Given the description of an element on the screen output the (x, y) to click on. 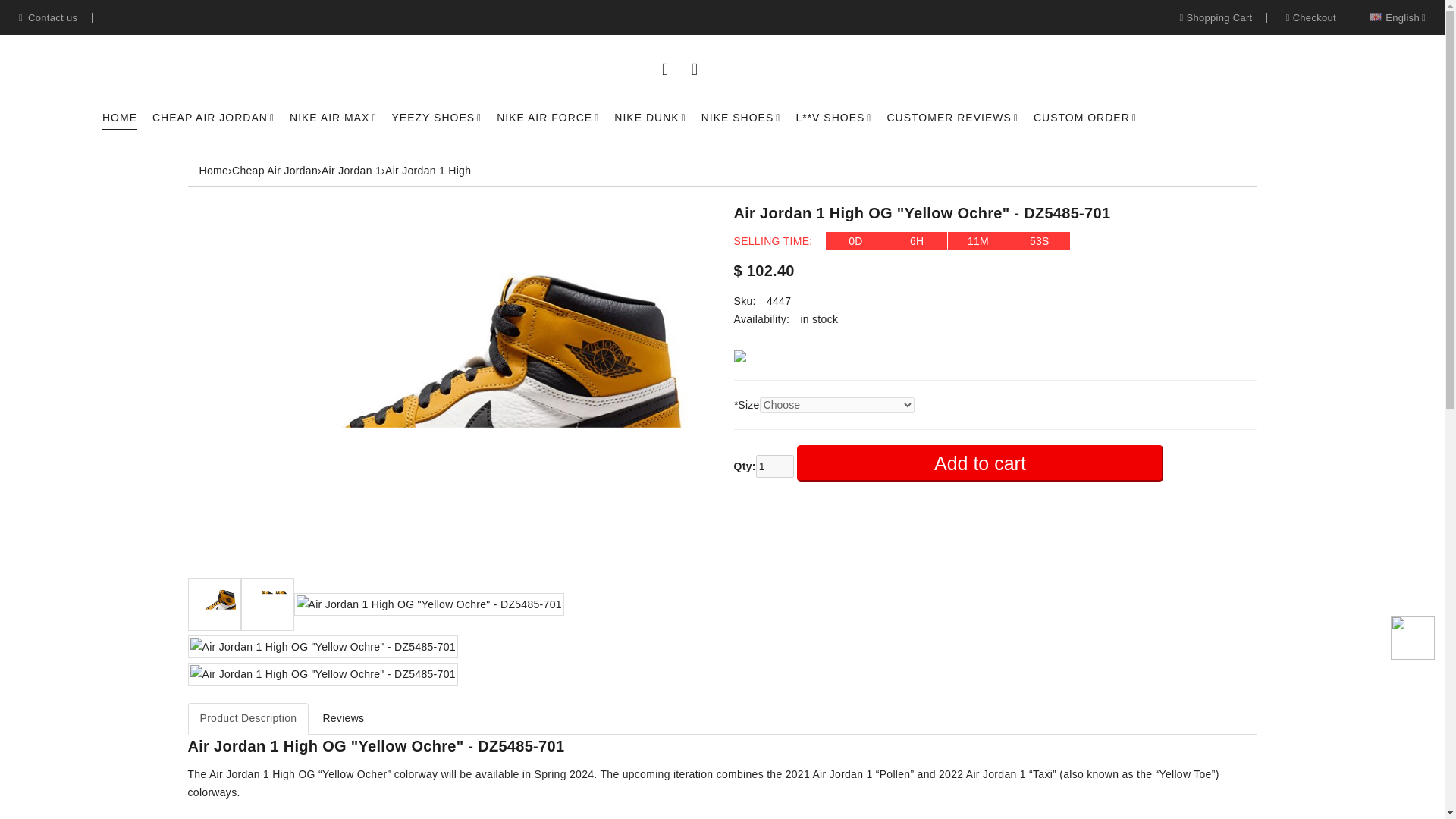
Add to cart (979, 463)
Cheap Air Jordan (274, 170)
Air Jordan 1 High (427, 170)
1 (774, 466)
Home (213, 170)
Checkout (1310, 17)
Qty (774, 466)
Air Jordan 1 (351, 170)
Shopping Cart (1215, 17)
